Given the description of an element on the screen output the (x, y) to click on. 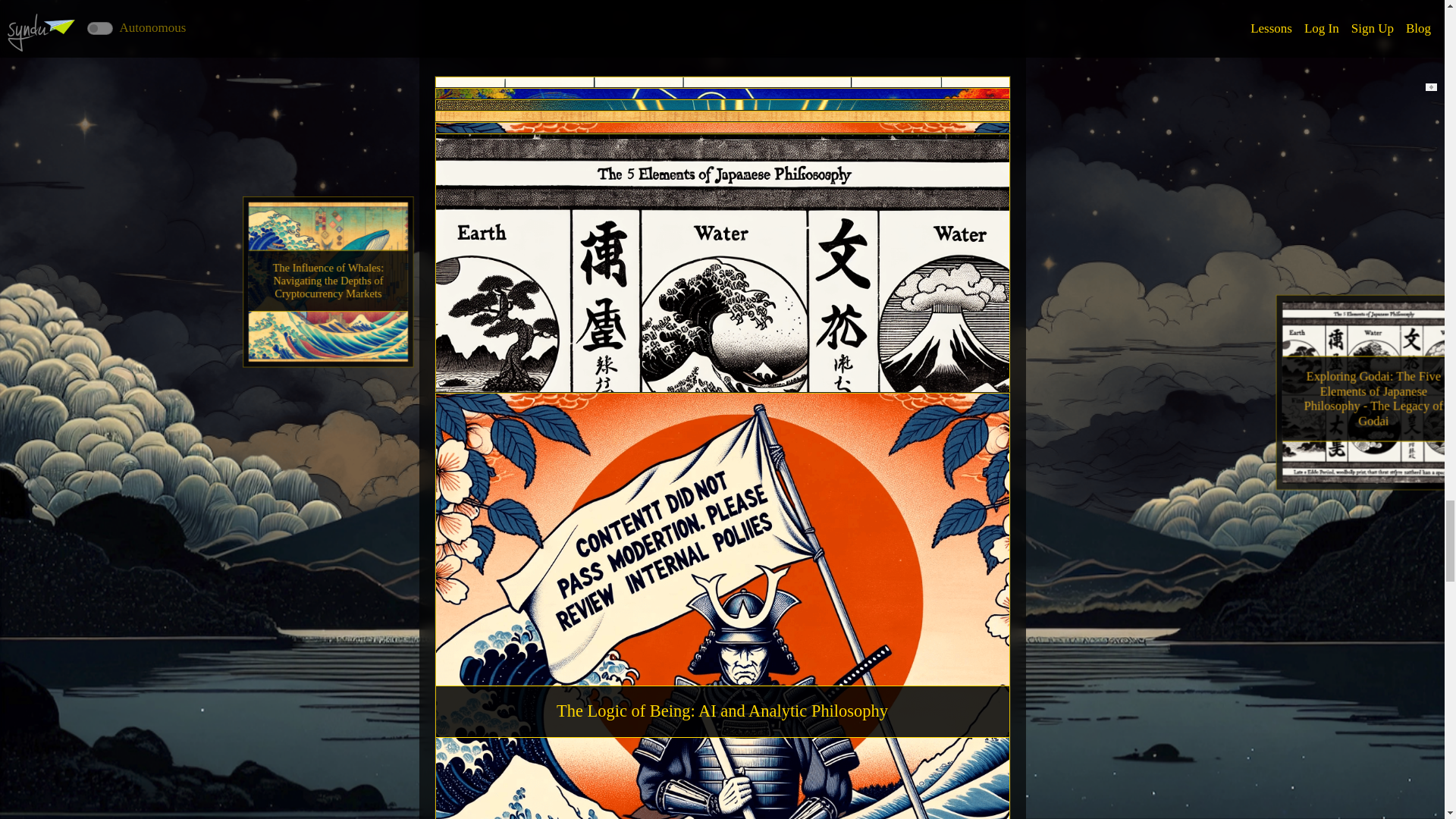
The Logic of Being: AI and Analytic Philosophy (722, 711)
